Given the description of an element on the screen output the (x, y) to click on. 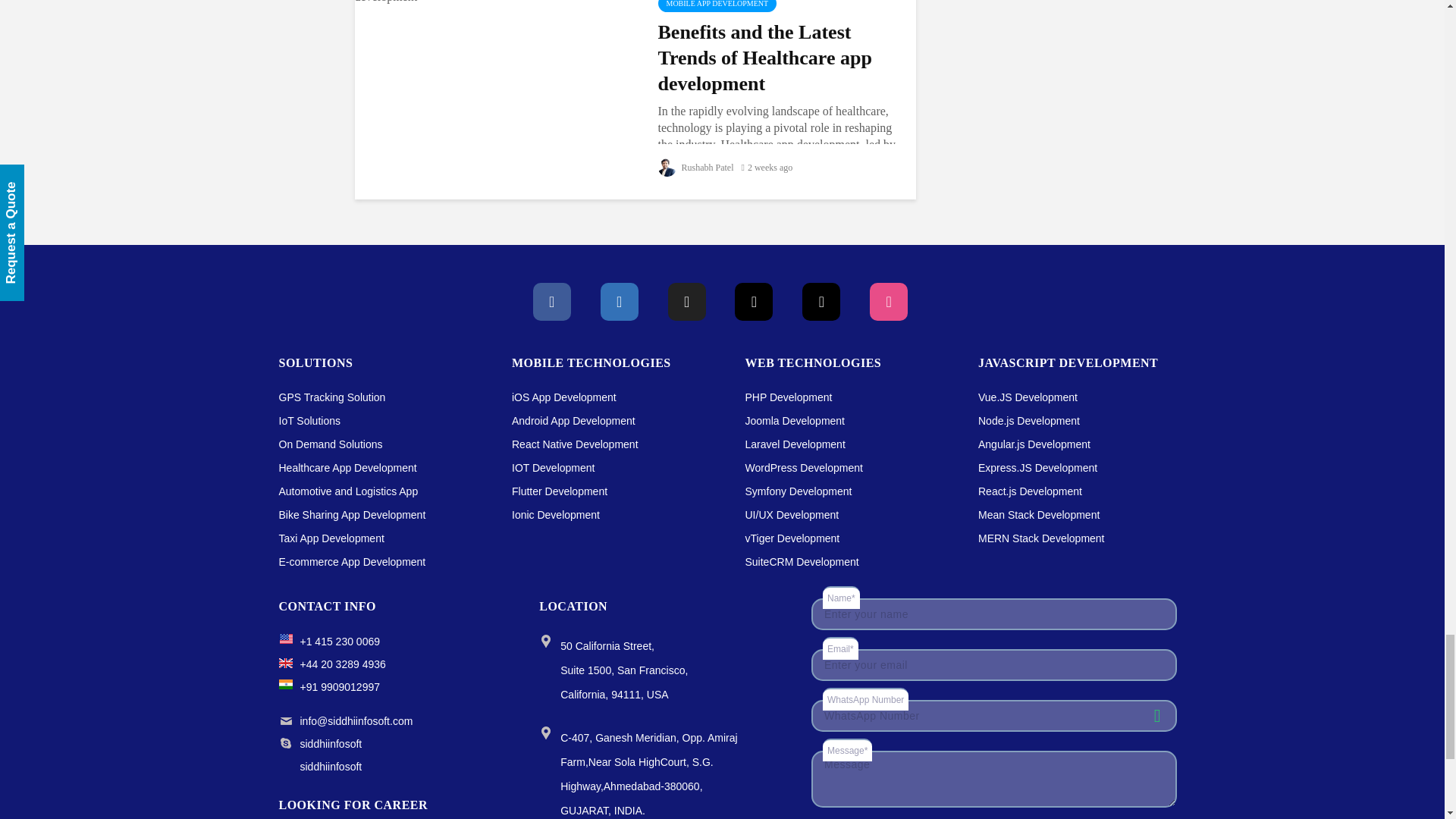
Facebook (551, 301)
